Given the description of an element on the screen output the (x, y) to click on. 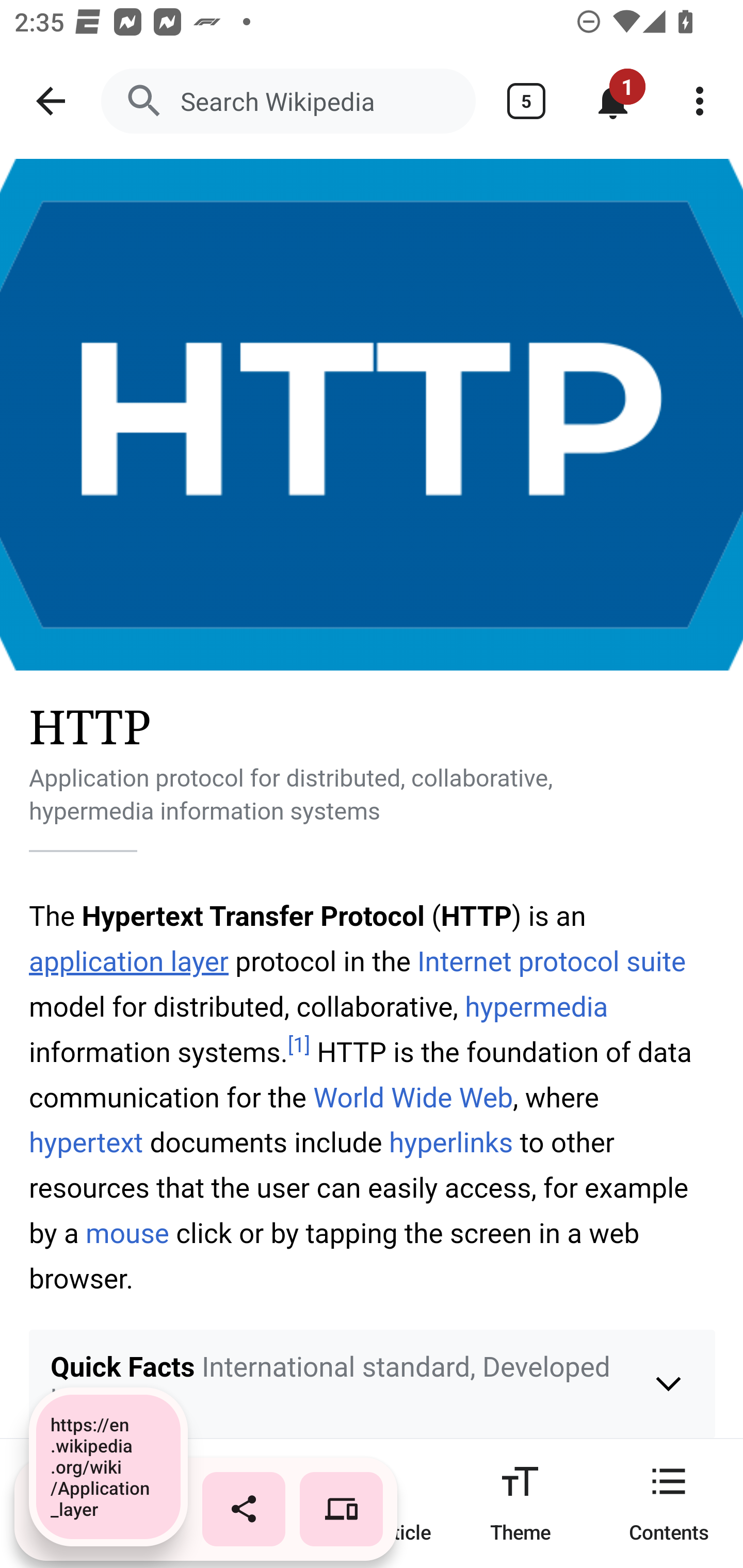
Show tabs 5 (525, 100)
Notifications 1 (612, 100)
Navigate up (50, 101)
More options (699, 101)
Search Wikipedia (288, 100)
Image: HTTP (371, 414)
application layer (128, 961)
Internet protocol suite (552, 961)
hypermedia (535, 1007)
[] [ 1 ] (299, 1045)
World Wide Web (413, 1098)
hypertext (86, 1142)
hyperlinks (450, 1142)
mouse (127, 1233)
Language (222, 1502)
Find in article (371, 1502)
Theme (519, 1502)
Contents (668, 1502)
